Given the description of an element on the screen output the (x, y) to click on. 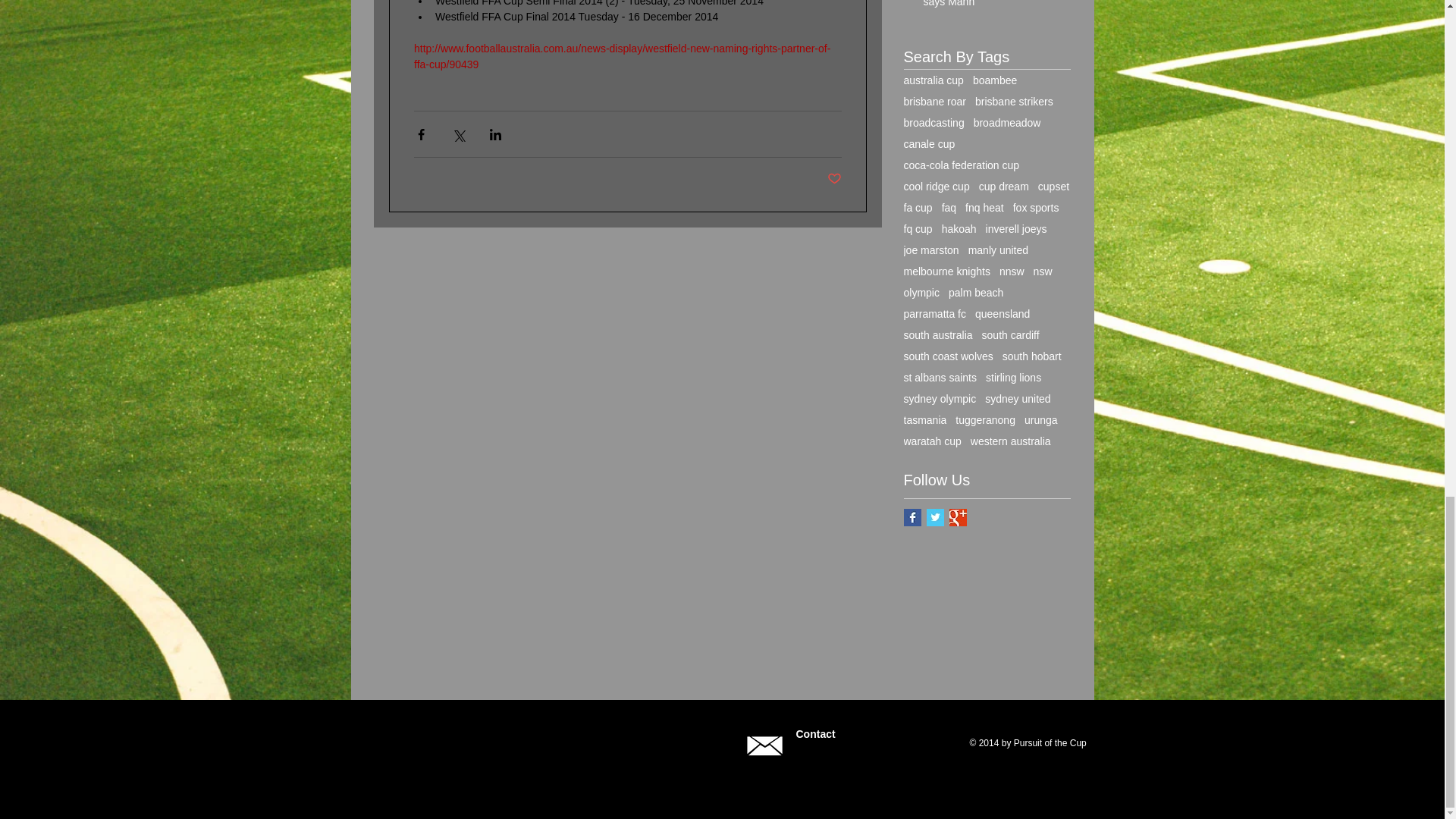
Apple Isle pride on the line, says Mann (992, 7)
Post not marked as liked (834, 179)
canale cup (929, 143)
fox sports (1036, 207)
hakoah (959, 228)
faq (949, 207)
coca-cola federation cup (962, 164)
cupset (1053, 186)
fnq heat (984, 207)
fq cup (918, 228)
